Given the description of an element on the screen output the (x, y) to click on. 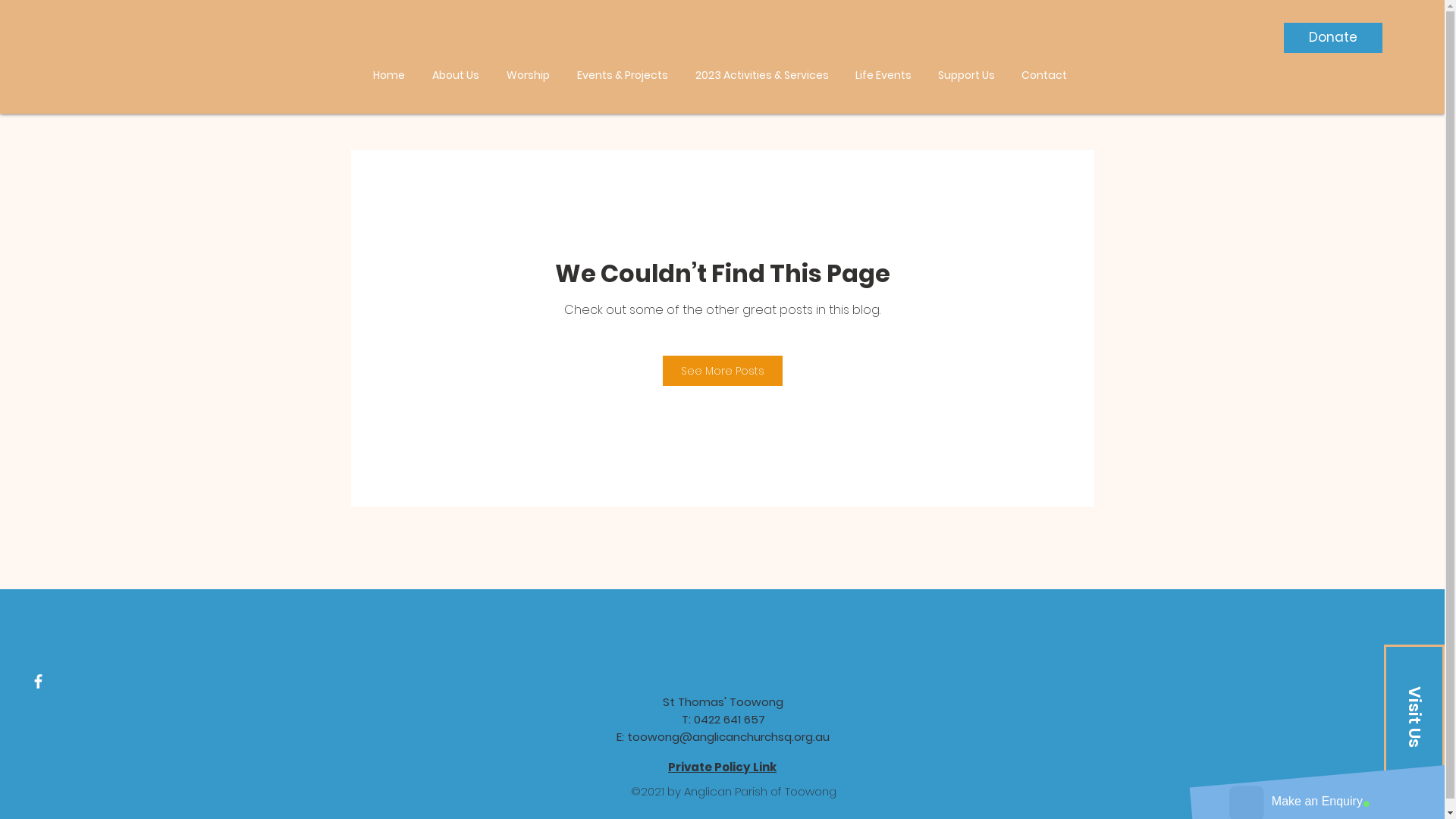
2023 Activities & Services Element type: text (760, 74)
Support Us Element type: text (966, 74)
About Us Element type: text (455, 74)
Donate Element type: text (1332, 37)
Worship Element type: text (527, 74)
Events & Projects Element type: text (621, 74)
Home Element type: text (388, 74)
Contact Element type: text (1044, 74)
Private Policy Link Element type: text (722, 767)
See More Posts Element type: text (722, 370)
toowong@anglicanchurchsq.org.au Element type: text (728, 736)
Life Events Element type: text (882, 74)
